Given the description of an element on the screen output the (x, y) to click on. 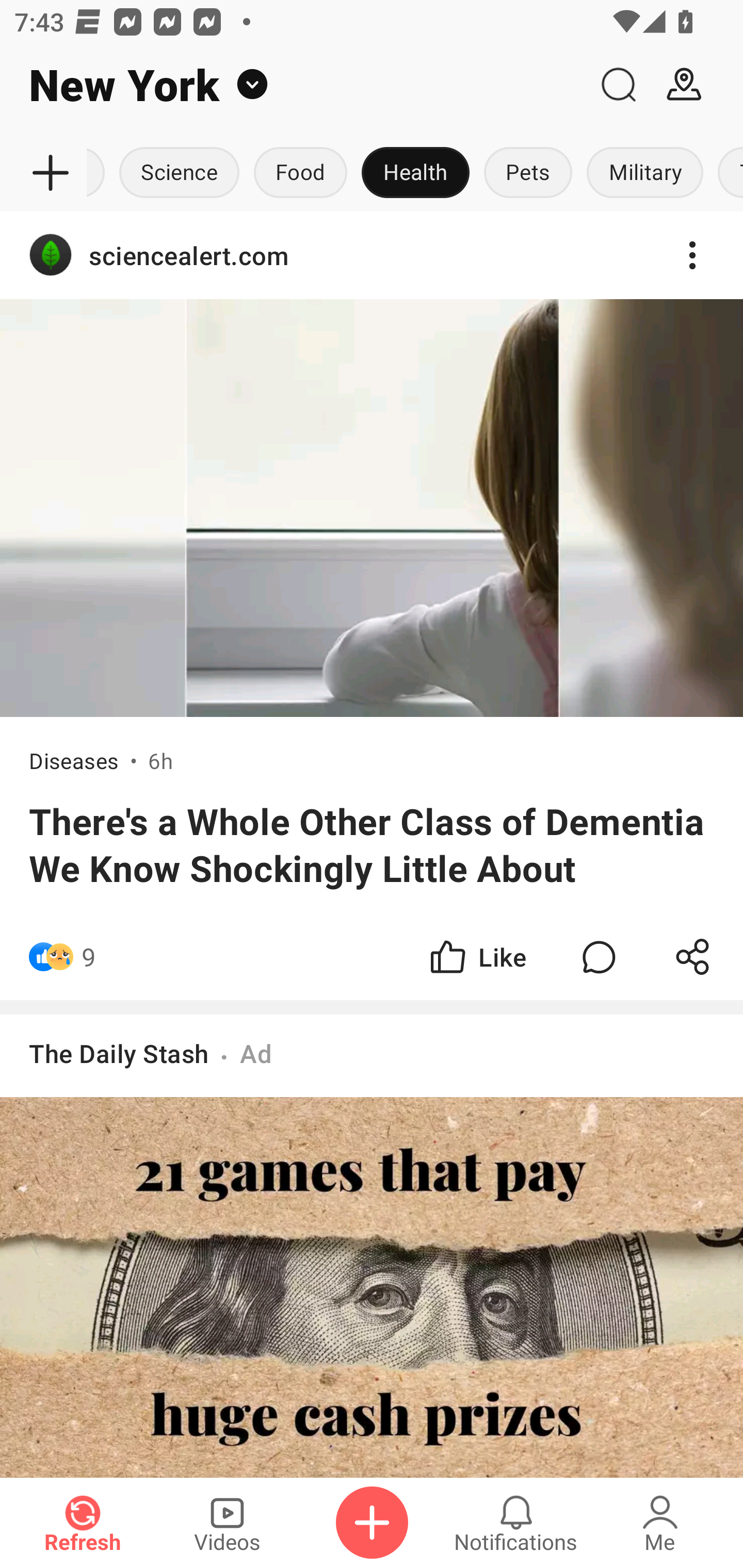
New York (292, 84)
Science (179, 172)
Food (300, 172)
Health (415, 172)
Pets (528, 172)
Military (644, 172)
sciencealert.com (371, 255)
9 (88, 957)
Like (476, 957)
The Daily Stash (118, 1053)
Videos (227, 1522)
Notifications (516, 1522)
Me (659, 1522)
